Given the description of an element on the screen output the (x, y) to click on. 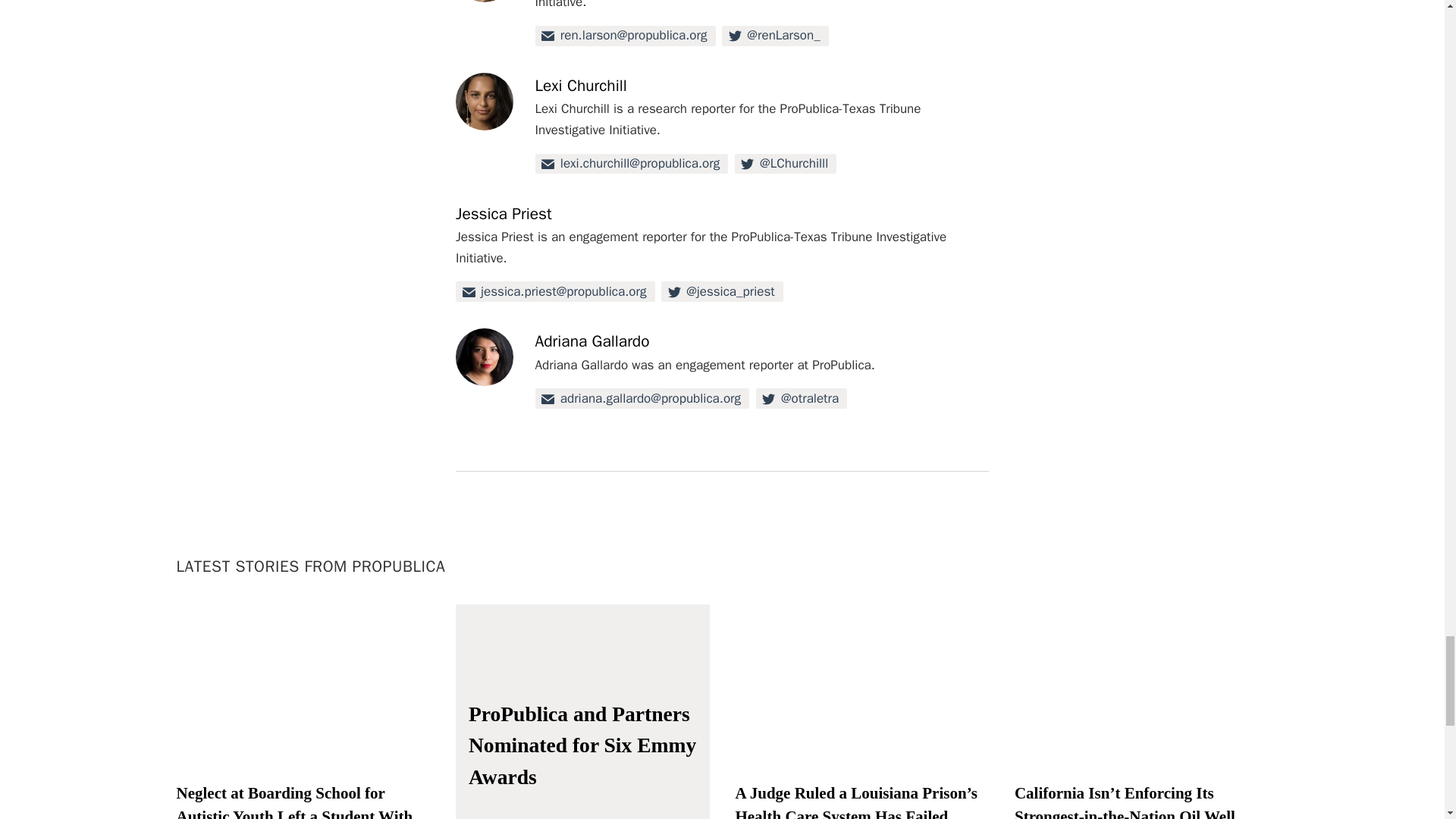
Twitter (786, 163)
Email (625, 35)
Email (632, 163)
Email (642, 398)
Email (555, 291)
Twitter (722, 291)
Twitter (775, 35)
Twitter (801, 398)
